Given the description of an element on the screen output the (x, y) to click on. 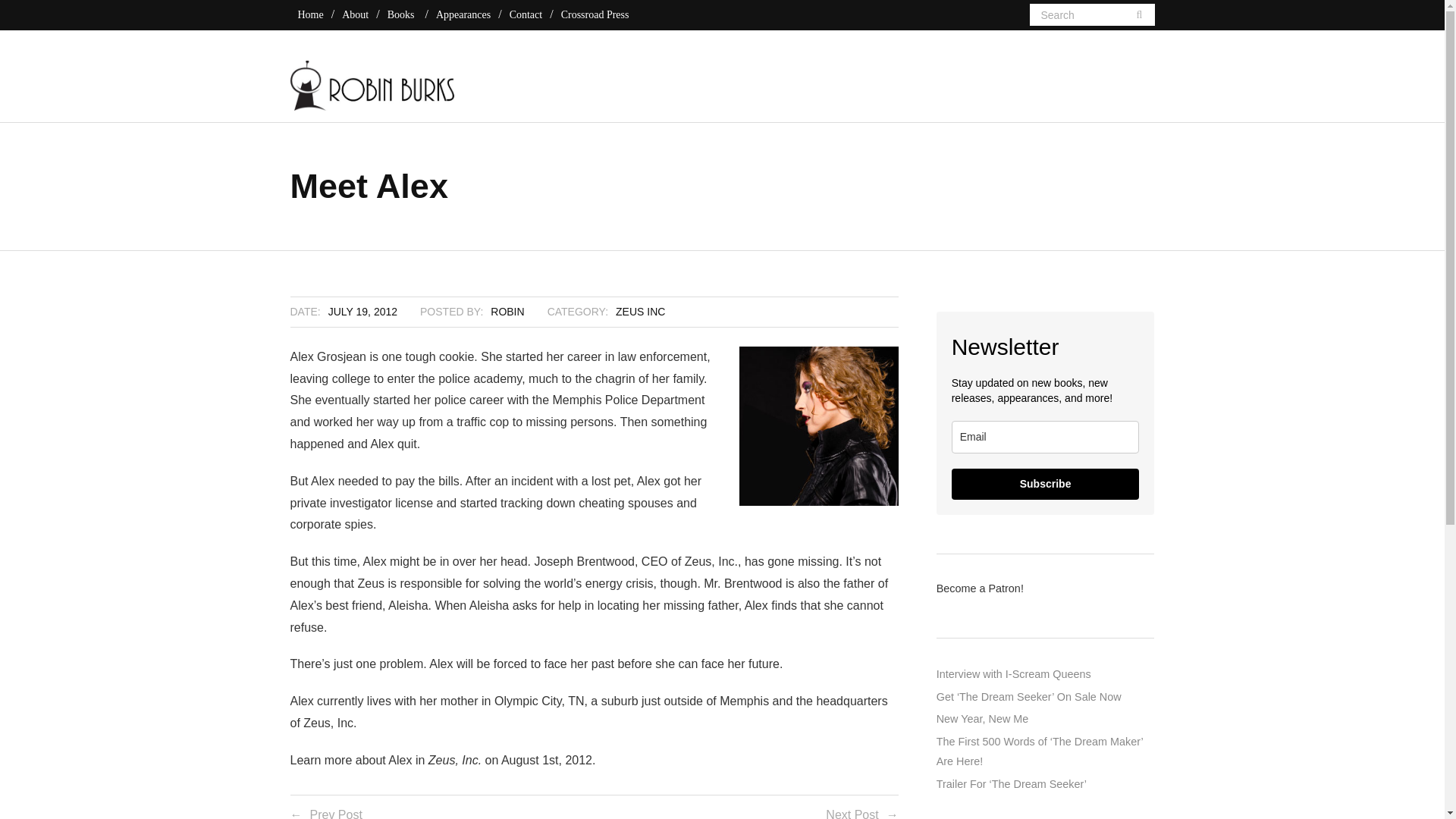
Books (401, 14)
Crossroad Press (595, 14)
Meet Alex (363, 311)
Home (309, 14)
About (354, 14)
Alex Grosjean (818, 426)
Appearances (462, 14)
Contact (526, 14)
View all posts by Robin (507, 311)
Search (46, 20)
